Given the description of an element on the screen output the (x, y) to click on. 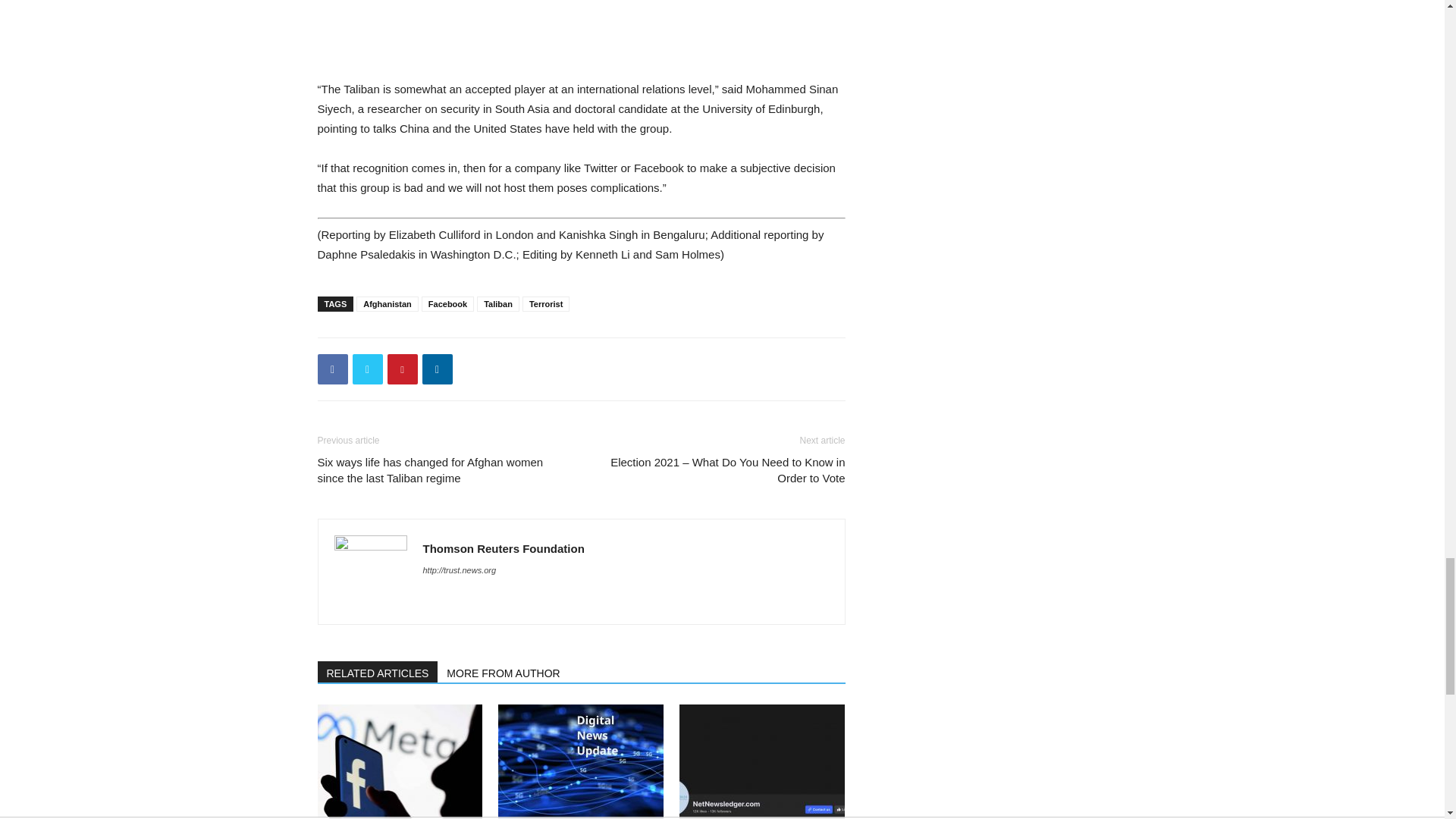
Twitter (366, 368)
Facebook (332, 368)
Pinterest (401, 368)
Linkedin (436, 368)
